Given the description of an element on the screen output the (x, y) to click on. 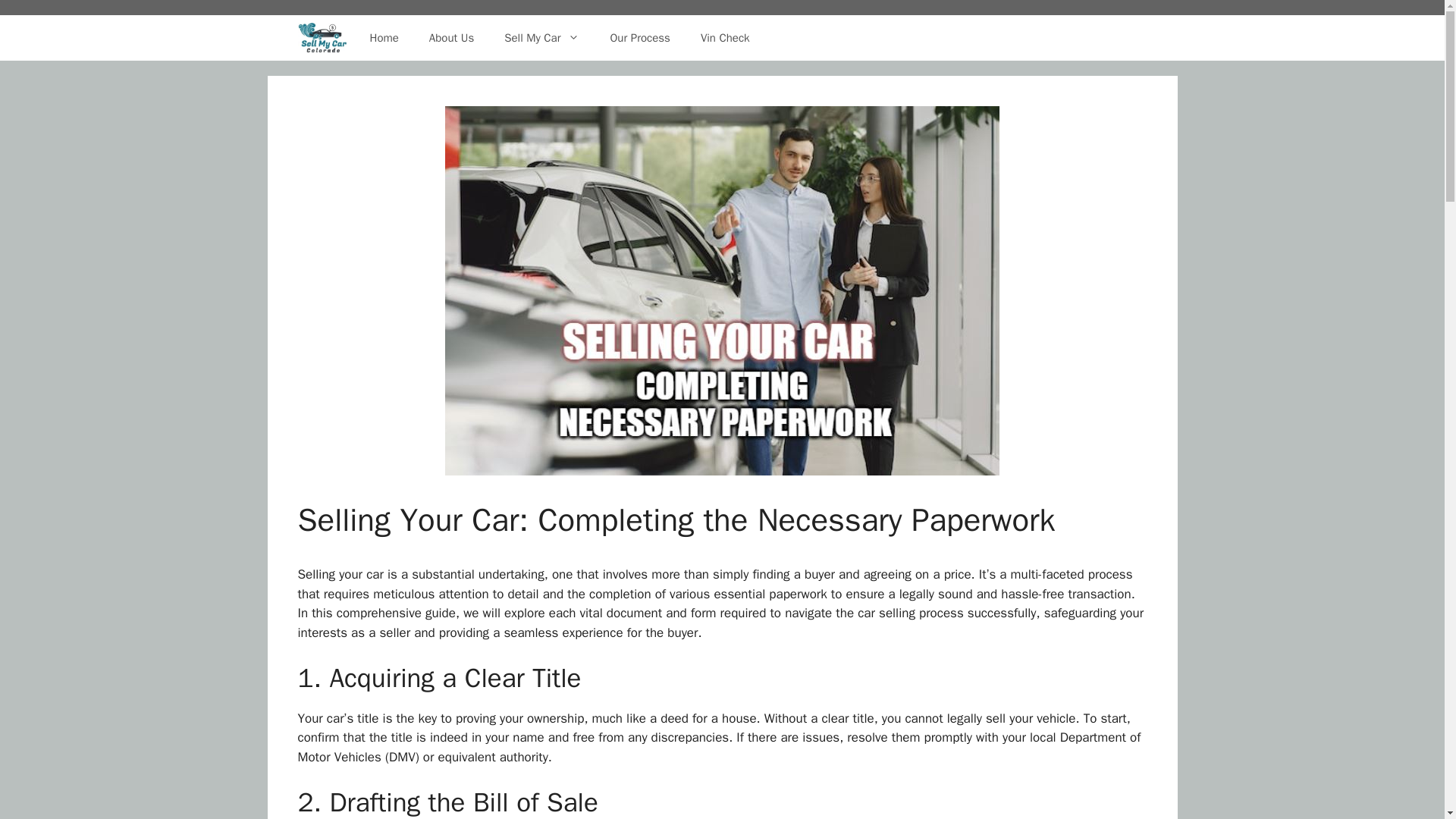
Our Process (639, 37)
We Buy Cars (321, 37)
Vin Check (725, 37)
About Us (451, 37)
Home (384, 37)
Sell My Car (541, 37)
